Given the description of an element on the screen output the (x, y) to click on. 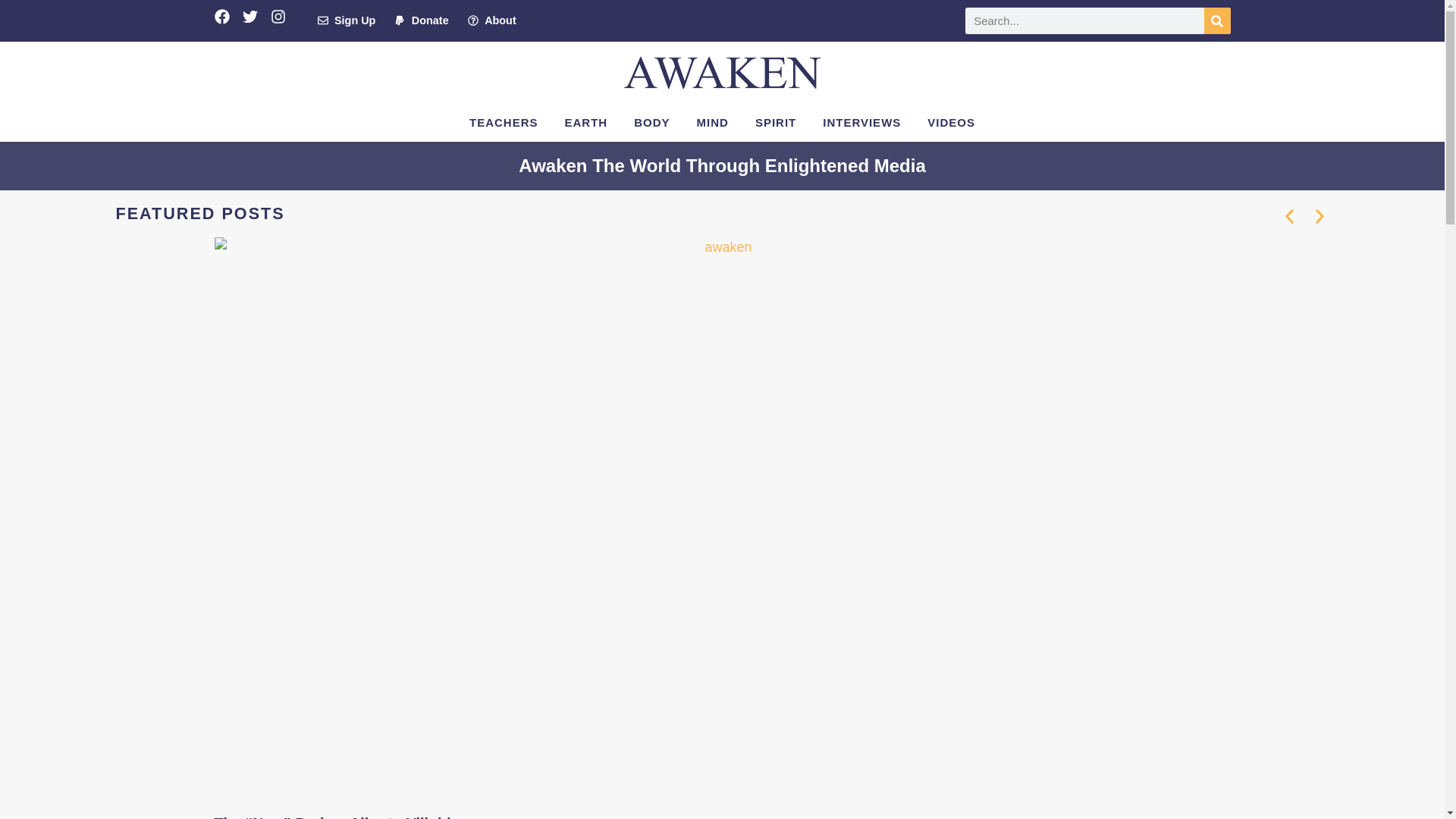
SPIRIT (776, 122)
Donate (421, 21)
MIND (712, 122)
TEACHERS (504, 122)
EARTH (586, 122)
BODY (652, 122)
Sign Up (346, 21)
About (491, 21)
